Given the description of an element on the screen output the (x, y) to click on. 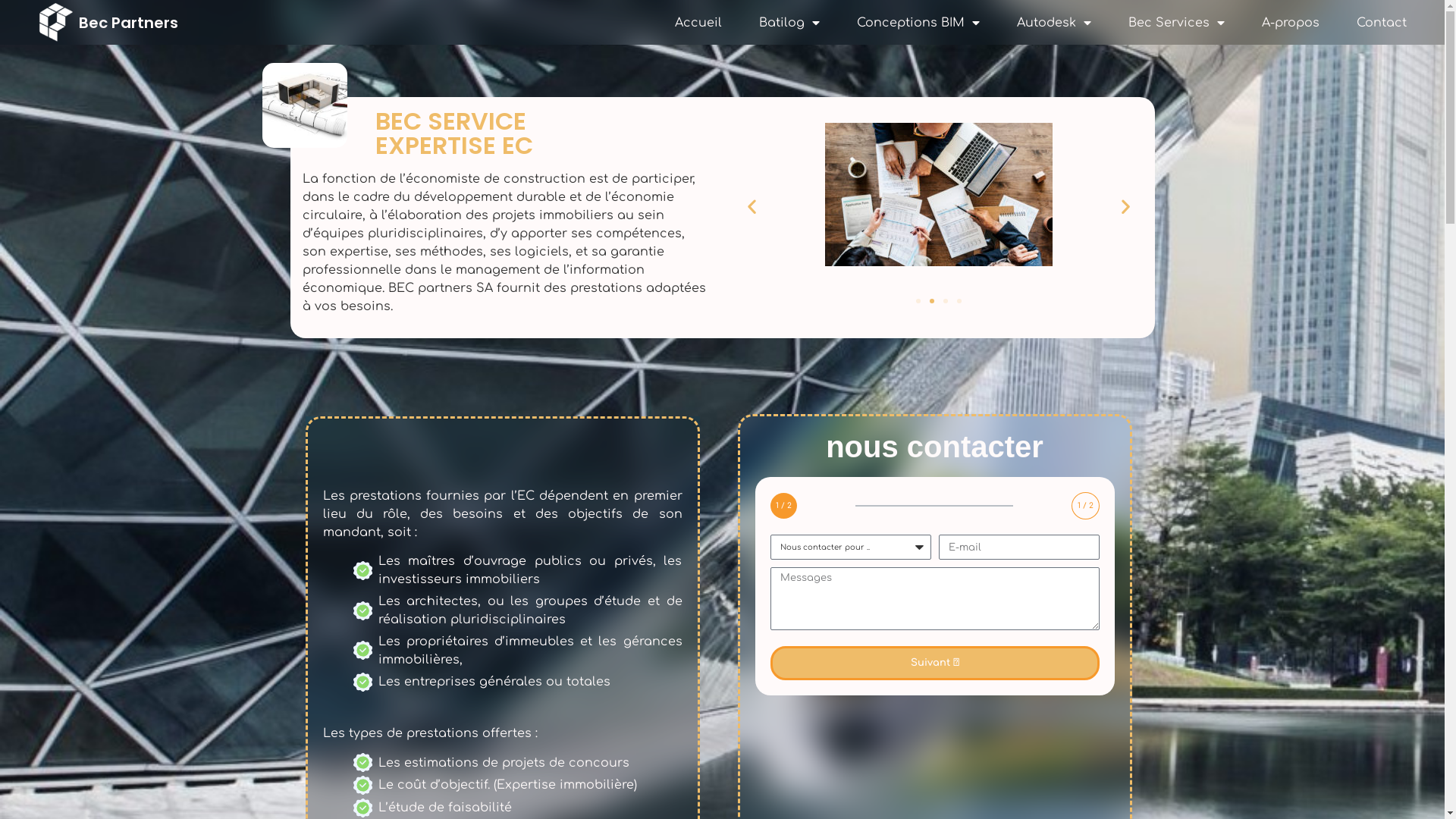
Contact Element type: text (1381, 21)
Batilog Element type: text (788, 21)
A-propos Element type: text (1290, 21)
plan project concept Element type: hover (304, 104)
Bec Partners Element type: text (128, 22)
Accueil Element type: text (698, 21)
Bec Services Element type: text (1176, 21)
Autodesk Element type: text (1053, 21)
Conceptions BIM Element type: text (917, 21)
